Given the description of an element on the screen output the (x, y) to click on. 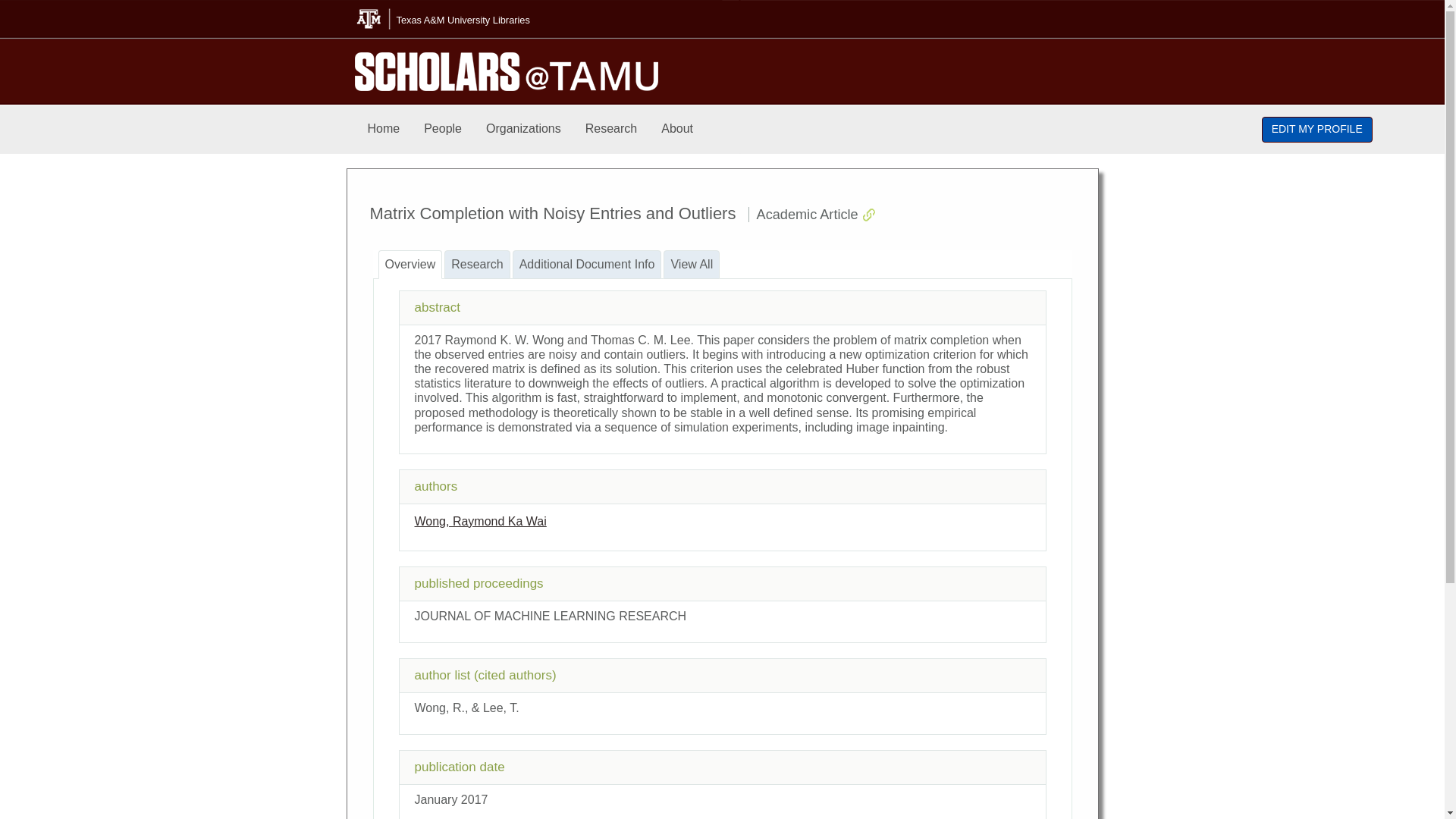
Home (383, 128)
Organizations menu item (523, 128)
EDIT MY PROFILE (1317, 129)
Wong, Raymond Ka Wai (479, 521)
Organizations (523, 128)
About (676, 128)
Home menu item (383, 128)
author name (479, 521)
People (443, 128)
About menu item (676, 128)
Research (611, 128)
Research menu item (611, 128)
People menu item (443, 128)
